Given the description of an element on the screen output the (x, y) to click on. 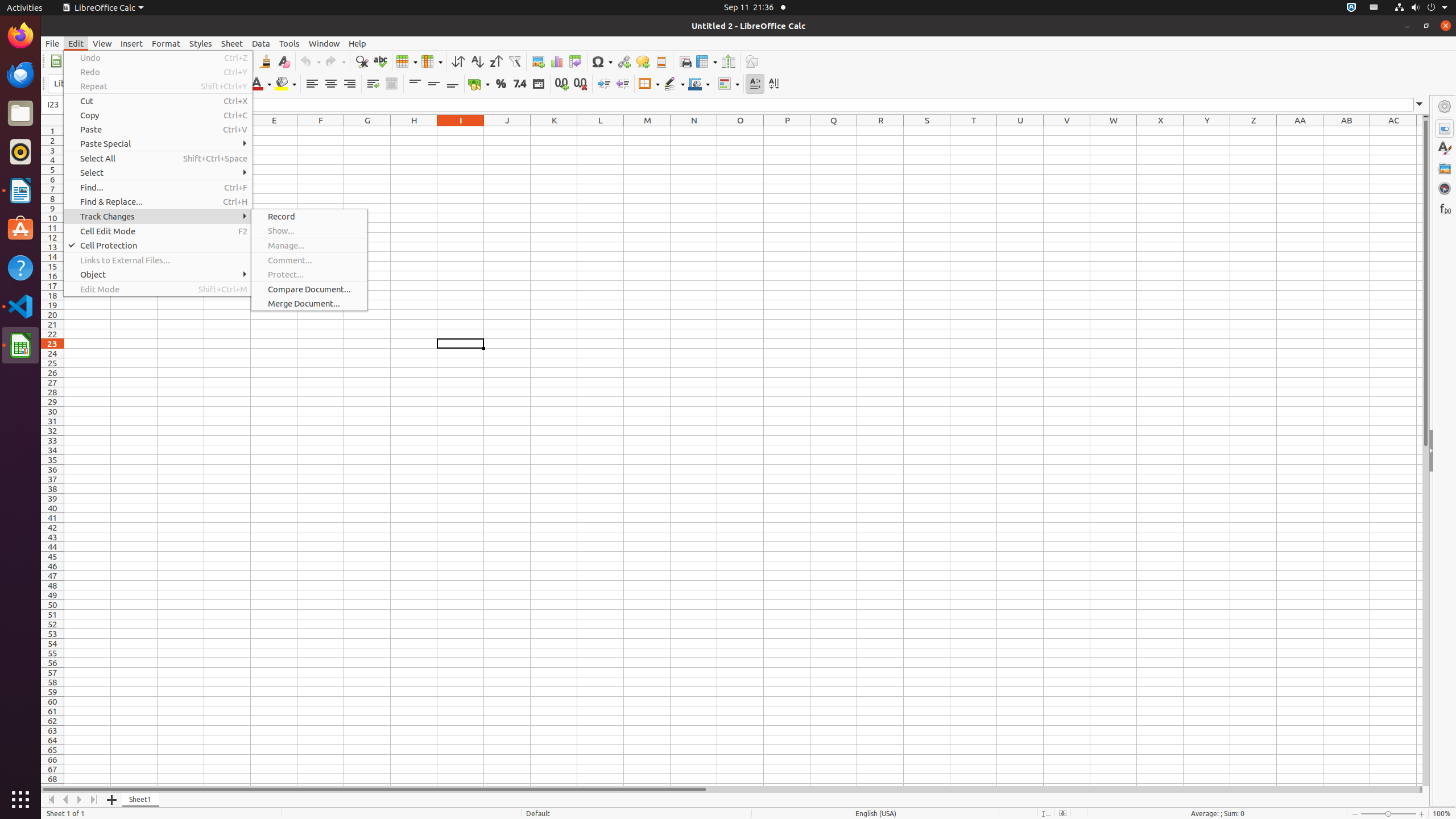
Horizontal scroll bar Element type: scroll-bar (729, 789)
Center Vertically Element type: push-button (433, 83)
Paste Special Element type: menu (157, 143)
Text direction from top to bottom Element type: toggle-button (773, 83)
